Given the description of an element on the screen output the (x, y) to click on. 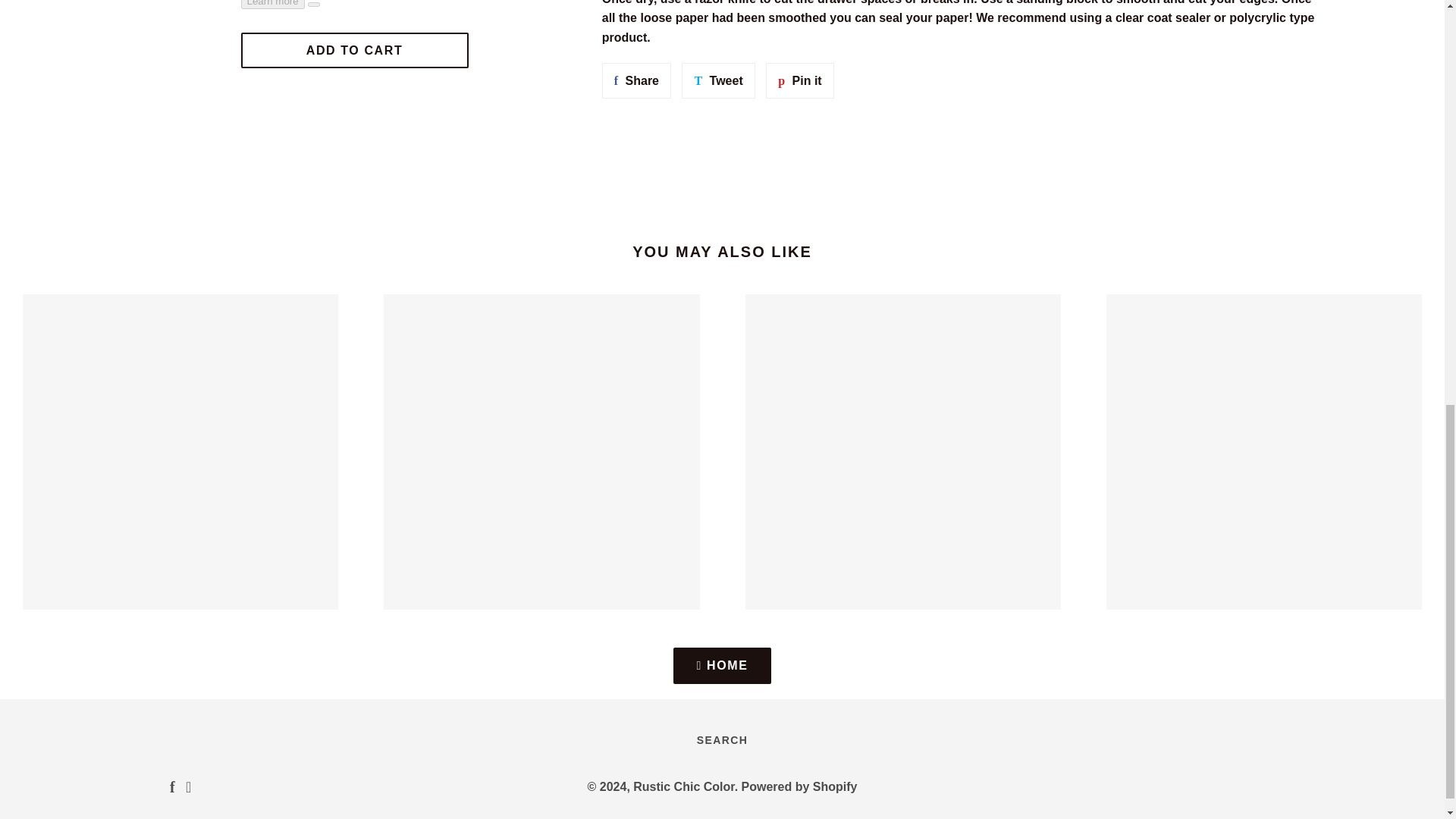
Tweet on Twitter (636, 81)
Pin on Pinterest (717, 81)
Share on Facebook (798, 81)
ADD TO CART (636, 81)
